Given the description of an element on the screen output the (x, y) to click on. 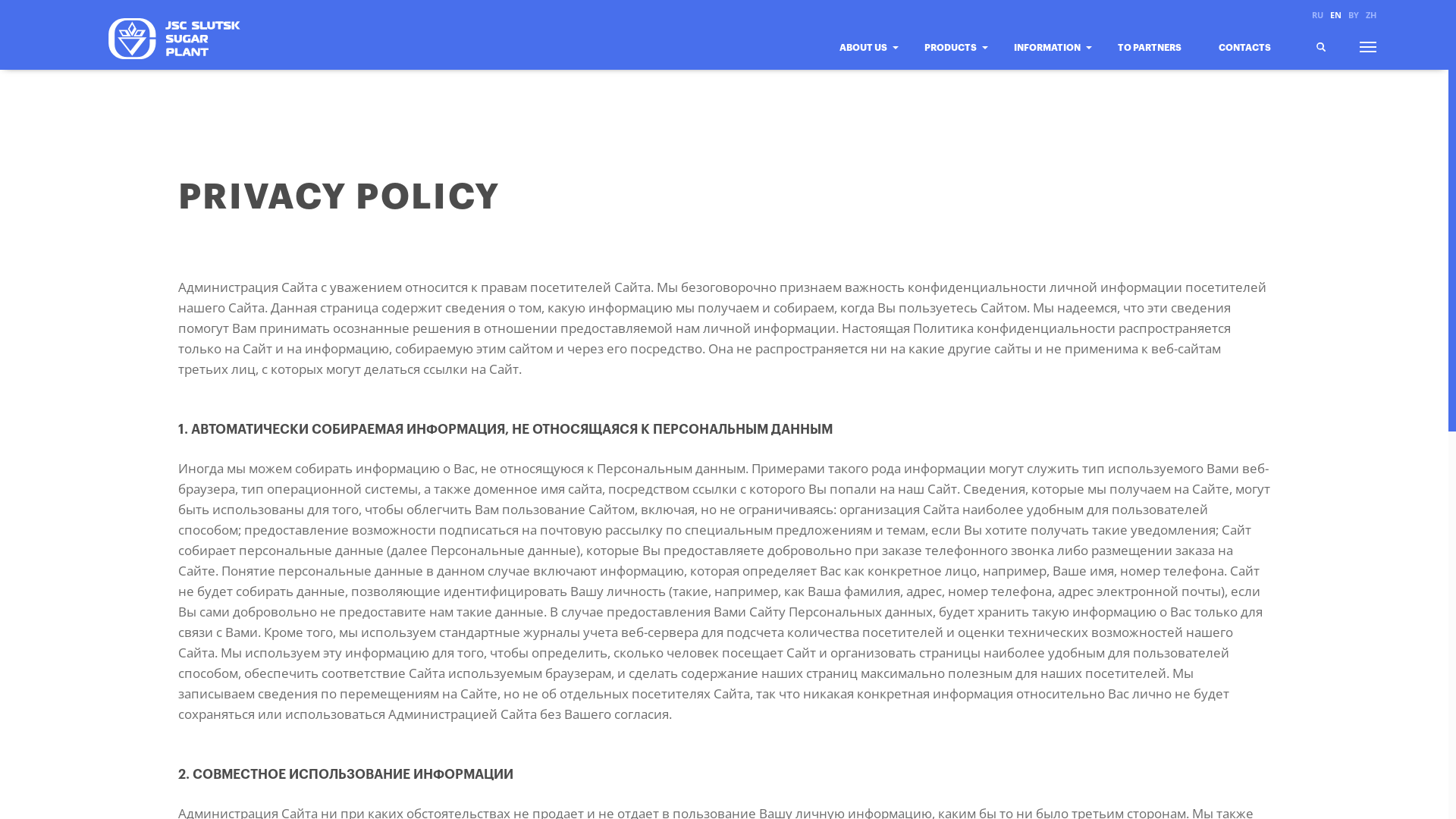
ZH Element type: text (1370, 14)
ABOUT US Element type: text (867, 60)
TO PARTNERS Element type: text (1154, 60)
BY Element type: text (1353, 14)
PRODUCTS Element type: text (955, 60)
CONTACTS Element type: text (1249, 60)
INFORMATION Element type: text (1052, 60)
RU Element type: text (1317, 14)
EN Element type: text (1335, 14)
